Given the description of an element on the screen output the (x, y) to click on. 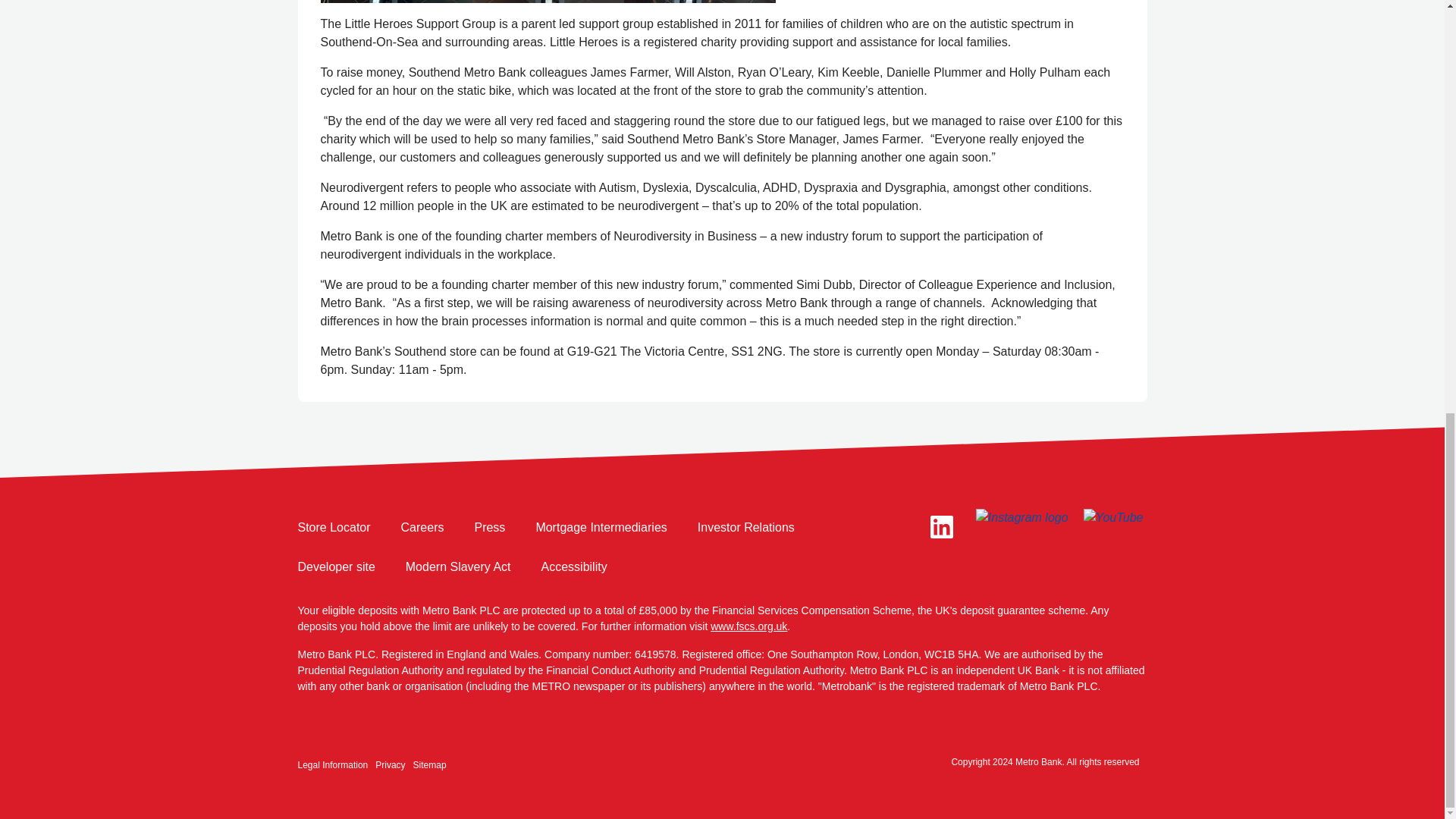
Developer site (335, 567)
Careers (422, 527)
FSCS Website (748, 625)
Accessibility (574, 567)
Mortgage Intermediaries (600, 527)
Store Locator (333, 527)
Investor Relations (745, 527)
Modern Slavery Act (458, 567)
